Given the description of an element on the screen output the (x, y) to click on. 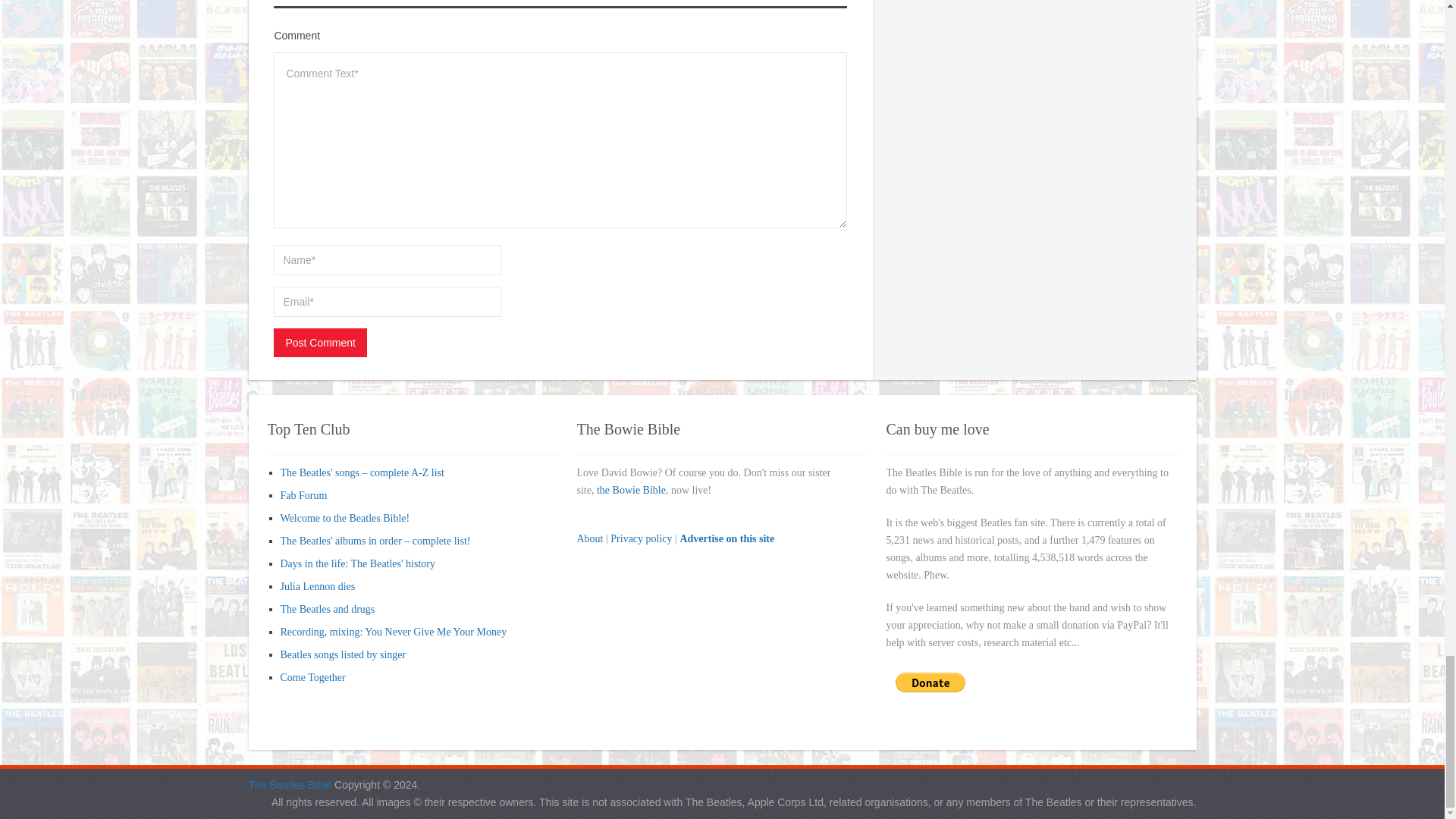
Post Comment (319, 342)
